Given the description of an element on the screen output the (x, y) to click on. 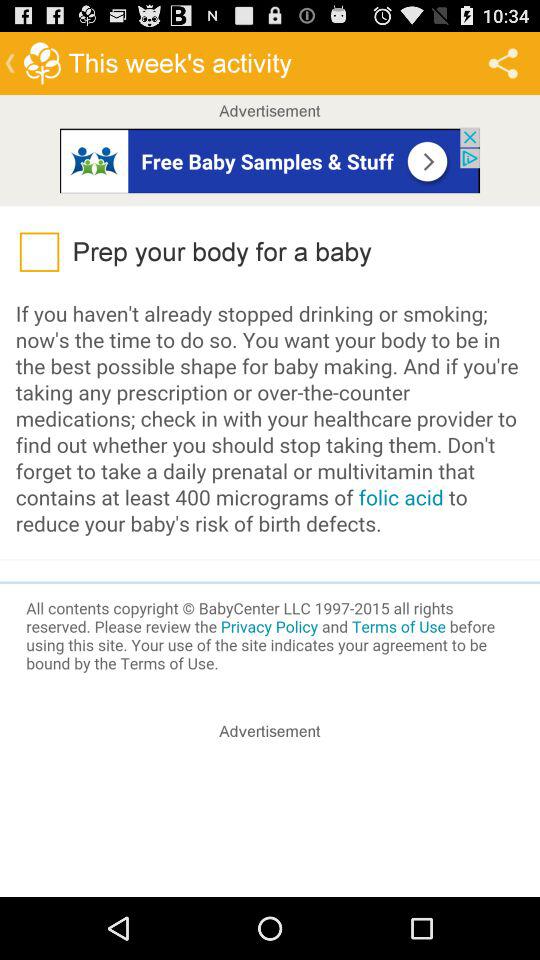
make advertisement (269, 822)
